Given the description of an element on the screen output the (x, y) to click on. 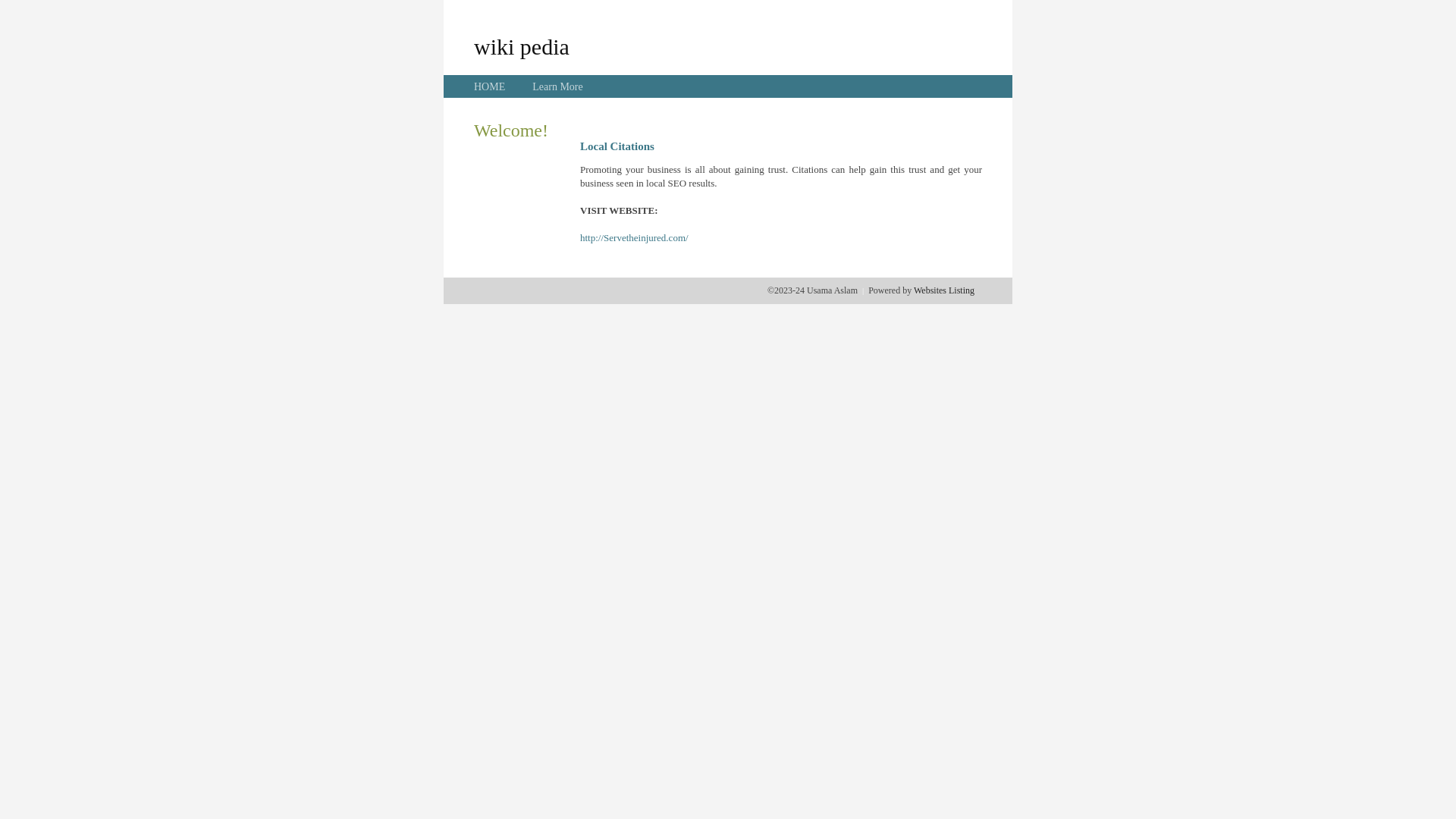
http://Servetheinjured.com/ Element type: text (634, 237)
HOME Element type: text (489, 86)
Learn More Element type: text (557, 86)
wiki pedia Element type: text (521, 46)
Websites Listing Element type: text (943, 290)
